Given the description of an element on the screen output the (x, y) to click on. 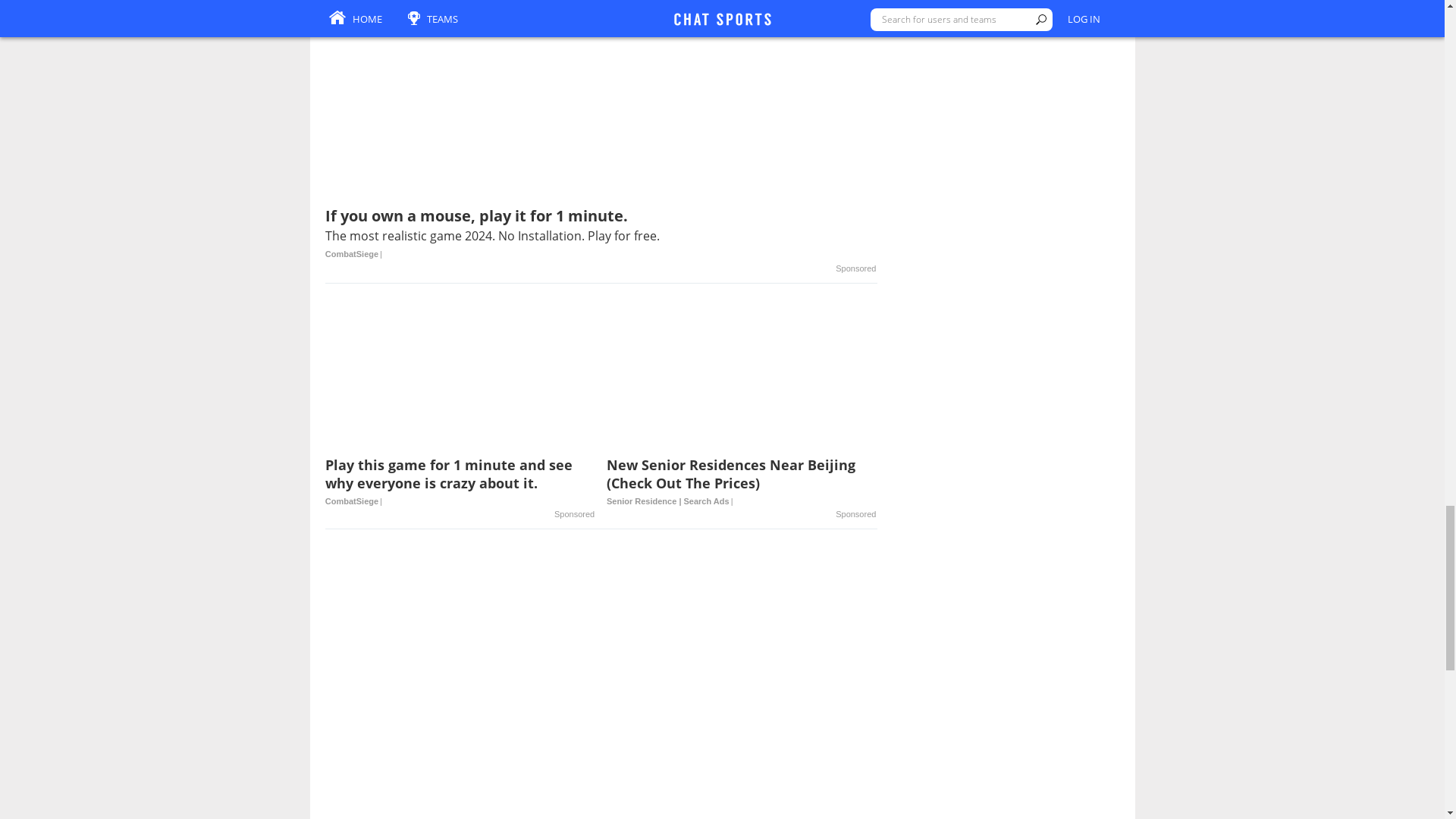
Sponsored (855, 514)
If you own a mouse, play it for 1 minute. (600, 234)
Sponsored (855, 268)
Sponsored (574, 514)
